Given the description of an element on the screen output the (x, y) to click on. 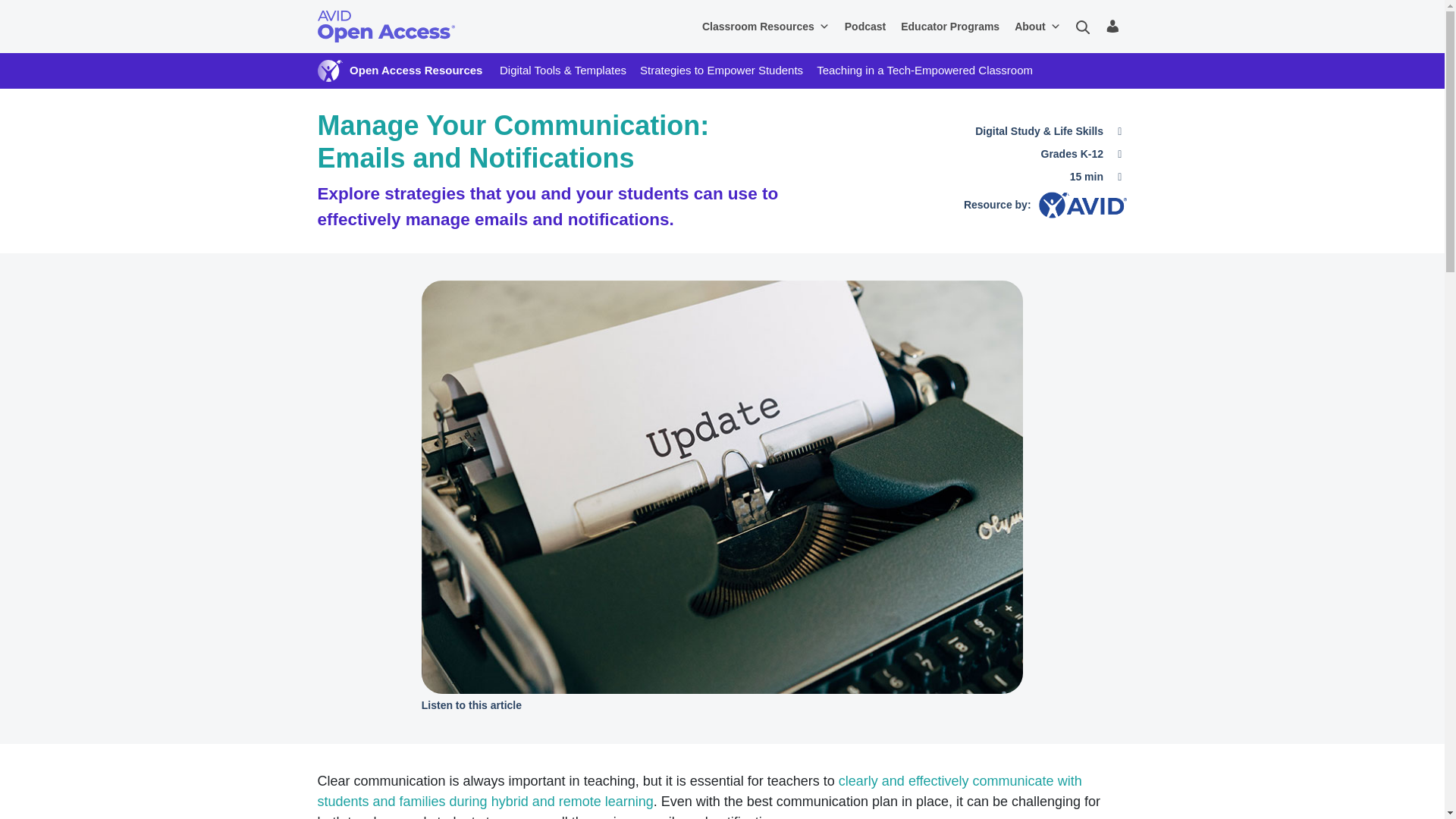
Educator Programs (950, 26)
About (1037, 26)
Classroom Resources (765, 26)
Strategies to Empower Students (721, 69)
Podcast (865, 26)
Teaching in a Tech-Empowered Classroom (924, 69)
Open Access Resources (415, 69)
